Given the description of an element on the screen output the (x, y) to click on. 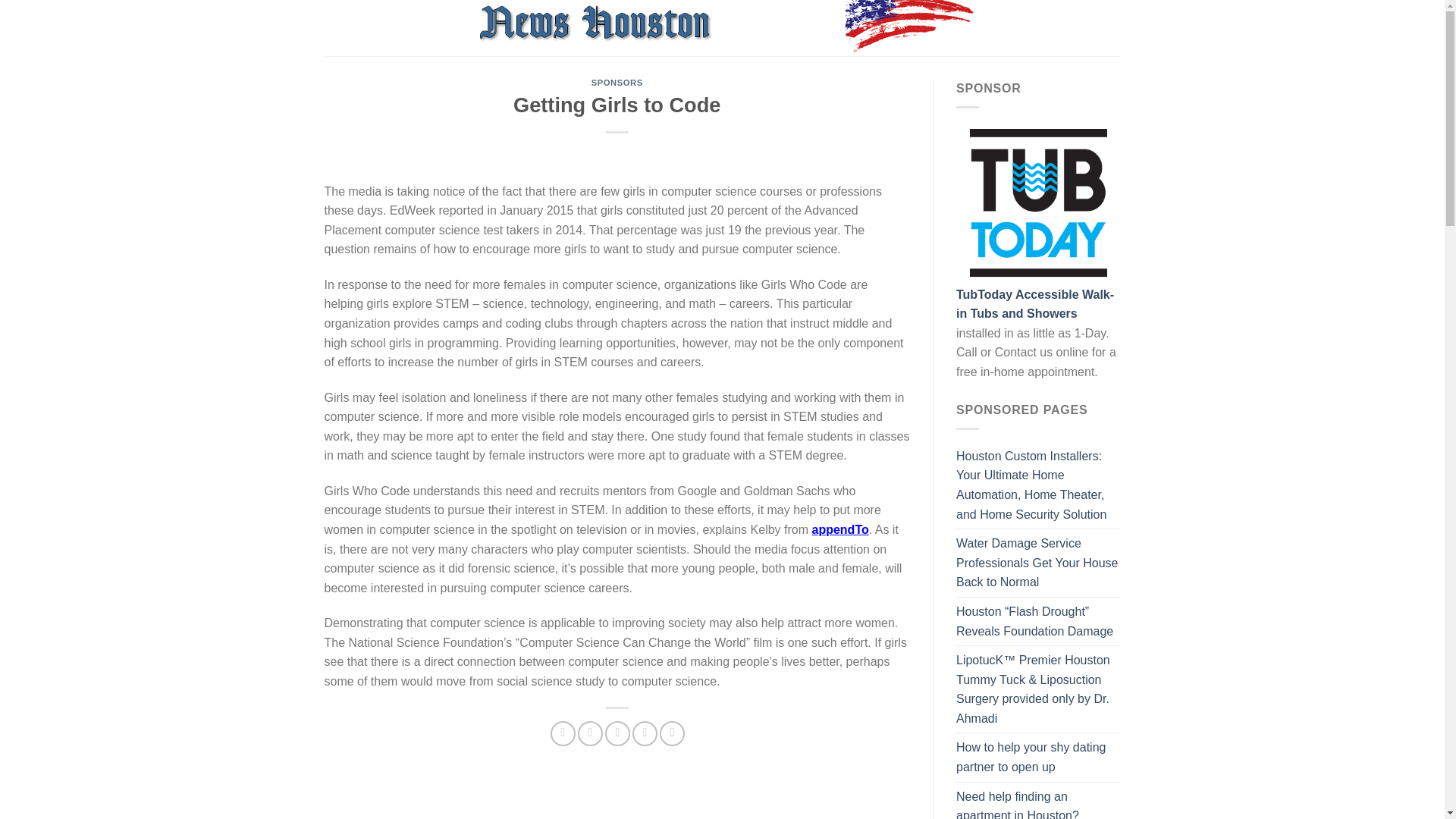
Email to a Friend (617, 733)
Need help finding an apartment in Houston? (1038, 800)
Share on Twitter (590, 733)
Pin on Pinterest (644, 733)
SPONSORS (617, 81)
Share on Facebook (562, 733)
How to help your shy dating partner to open up (1038, 757)
TubToday Accessible Walk-in Tubs and Showers (1034, 304)
appendTo (838, 529)
